Given the description of an element on the screen output the (x, y) to click on. 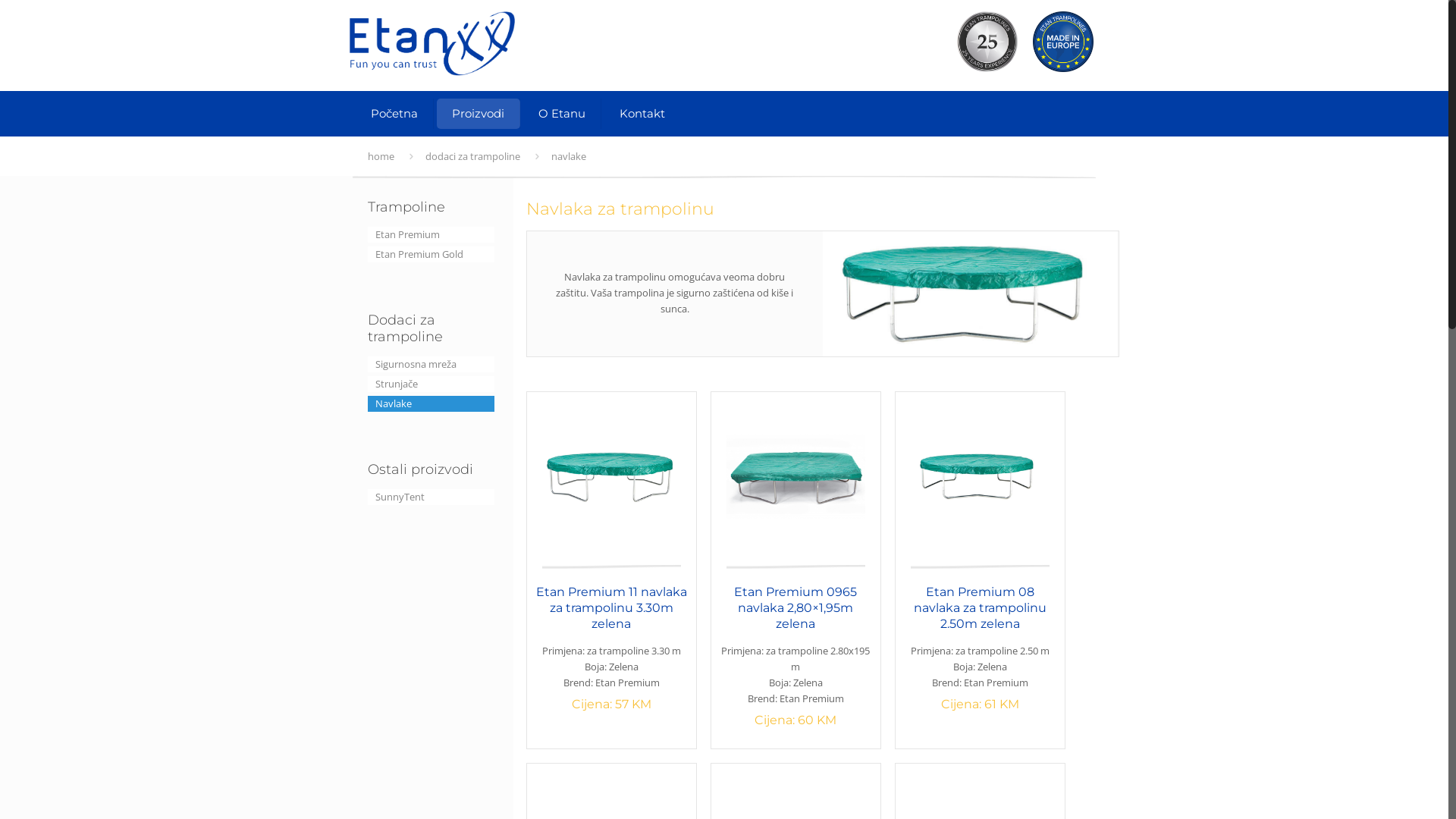
home Element type: text (380, 156)
Proizvodi Element type: text (478, 113)
SunnyTent Element type: text (430, 497)
dodaci za trampoline Element type: text (472, 156)
Etan d.o.o. - Prodaja trampolina Element type: hover (431, 45)
Etan Premium Element type: text (430, 234)
Kontakt Element type: text (642, 113)
Etan Premium Gold Element type: text (430, 254)
O Etanu Element type: text (562, 113)
Navlake Element type: text (430, 403)
Etan Premium 08 navlaka za trampolinu 2.50m zelena Element type: text (979, 607)
Etan Premium 11 navlaka za trampolinu 3.30m zelena Element type: text (611, 607)
